Given the description of an element on the screen output the (x, y) to click on. 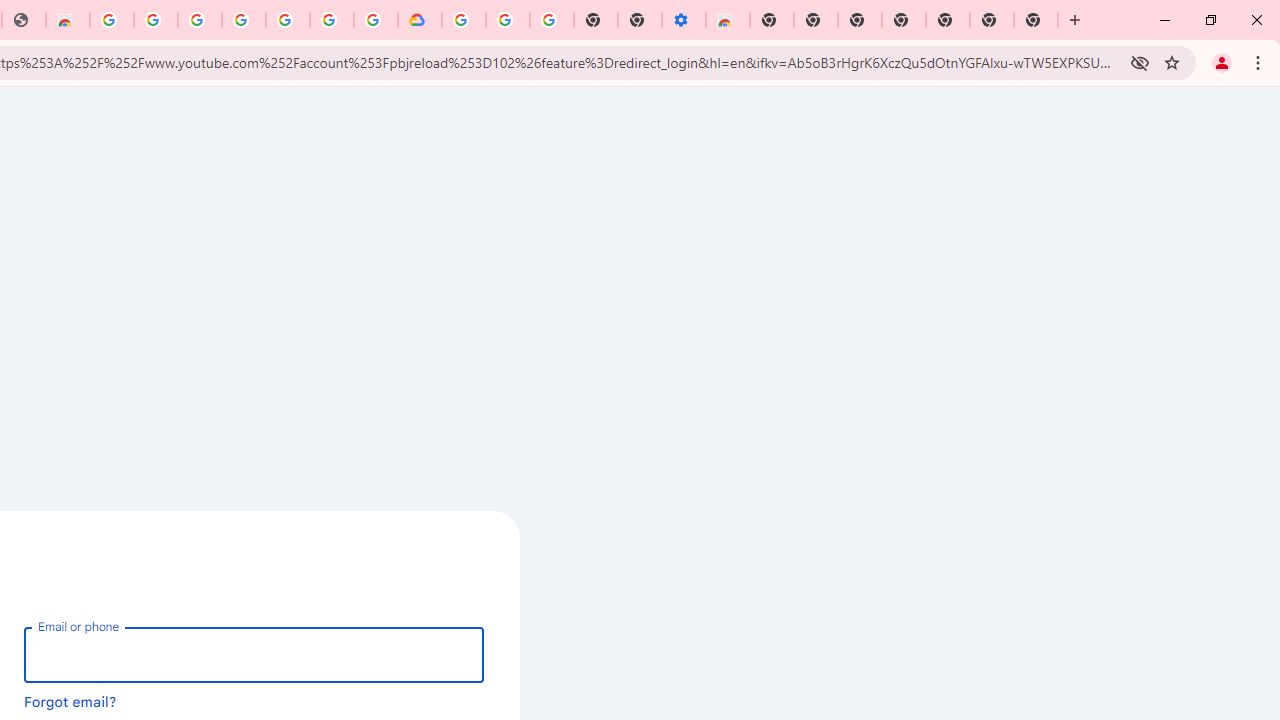
Sign in - Google Accounts (463, 20)
Forgot email? (70, 701)
Sign in - Google Accounts (199, 20)
Chrome Web Store - Household (67, 20)
